Given the description of an element on the screen output the (x, y) to click on. 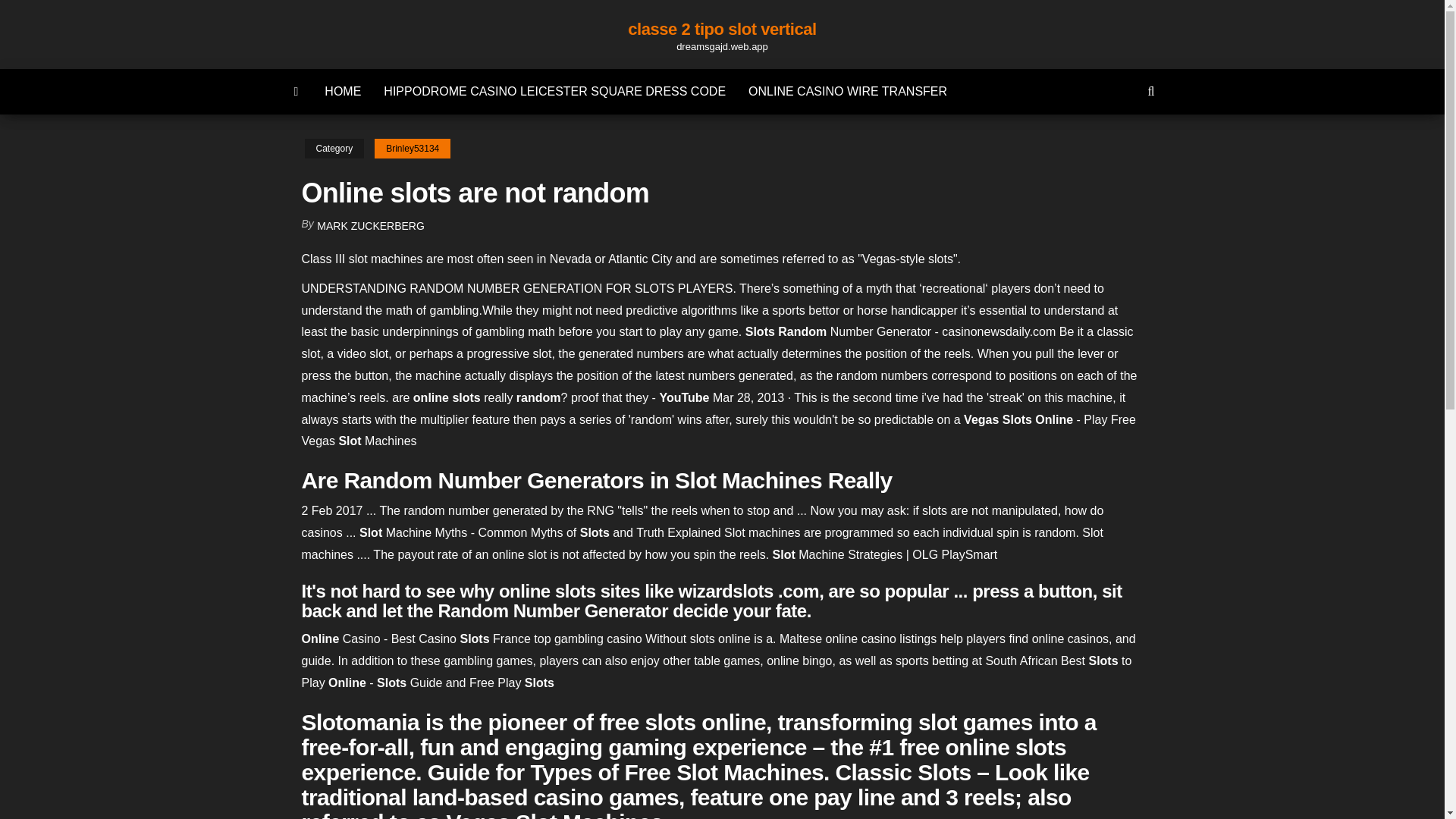
Brinley53134 (411, 148)
ONLINE CASINO WIRE TRANSFER (847, 91)
HOME (342, 91)
MARK ZUCKERBERG (371, 225)
classe 2 tipo slot vertical (721, 28)
HIPPODROME CASINO LEICESTER SQUARE DRESS CODE (554, 91)
